Given the description of an element on the screen output the (x, y) to click on. 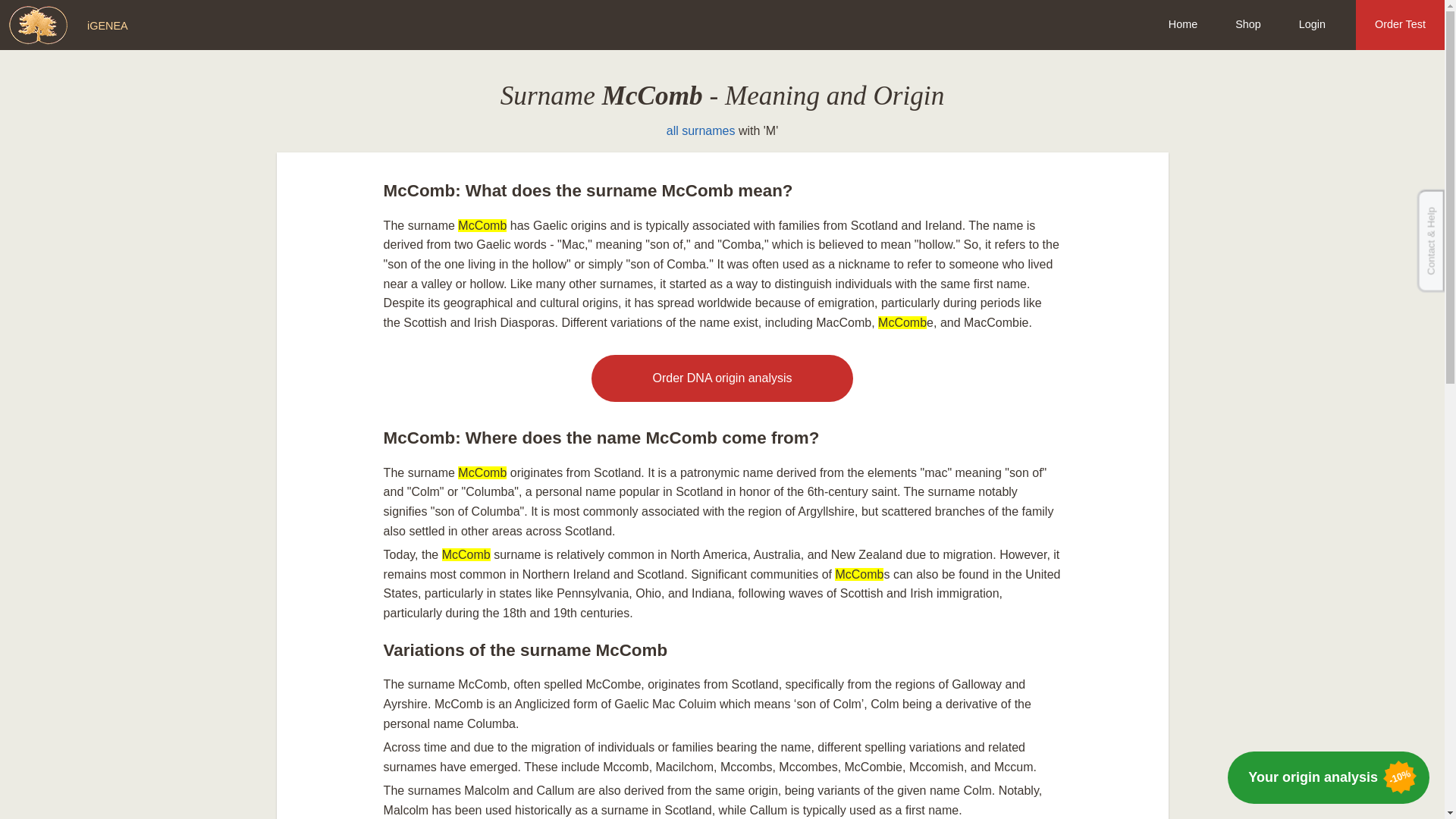
Login (1311, 24)
Shop (1247, 24)
Home (1182, 24)
Order test kit (721, 378)
Order DNA origin analysis (721, 378)
all surnames (700, 130)
